Given the description of an element on the screen output the (x, y) to click on. 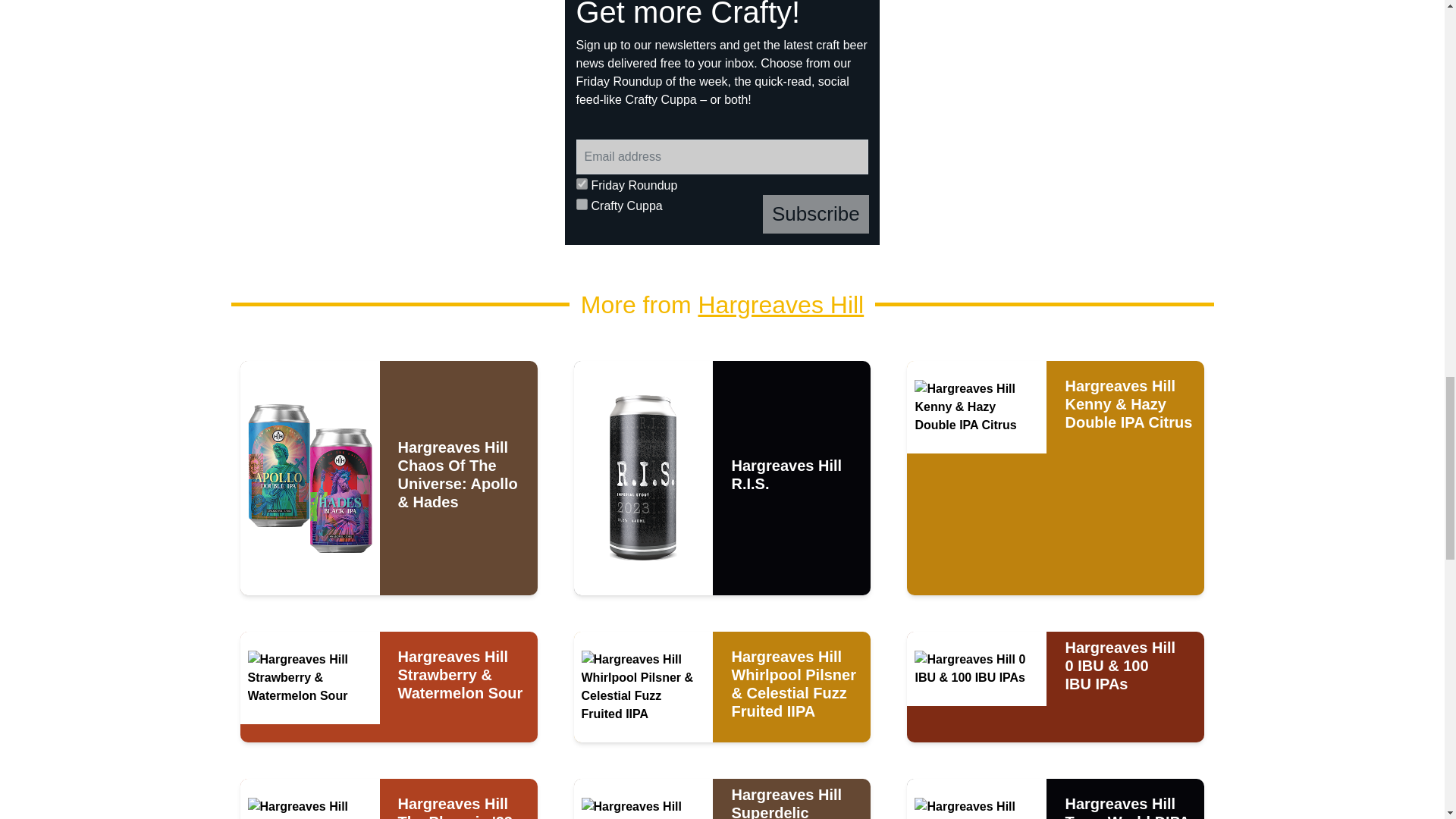
cuppa (582, 204)
Subscribe (815, 213)
Gypsy Hub (389, 122)
friday (582, 183)
